Given the description of an element on the screen output the (x, y) to click on. 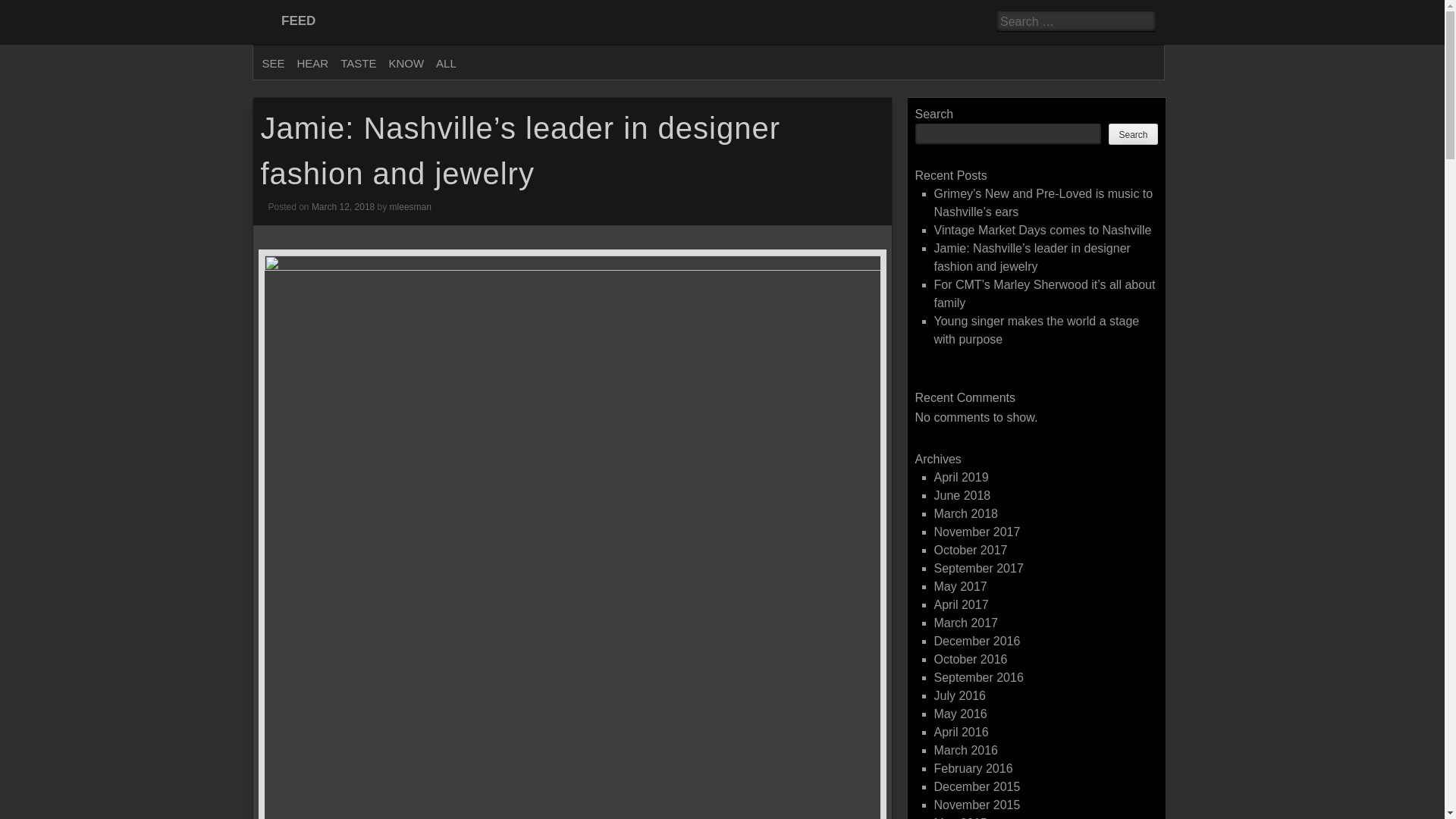
May 2015 (960, 817)
April 2017 (961, 604)
TASTE (357, 63)
SKIP TO CONTENT (287, 71)
KNOW (405, 63)
November 2015 (977, 804)
October 2017 (970, 549)
April 2016 (961, 731)
2:31 pm (342, 206)
February 2016 (973, 768)
